Given the description of an element on the screen output the (x, y) to click on. 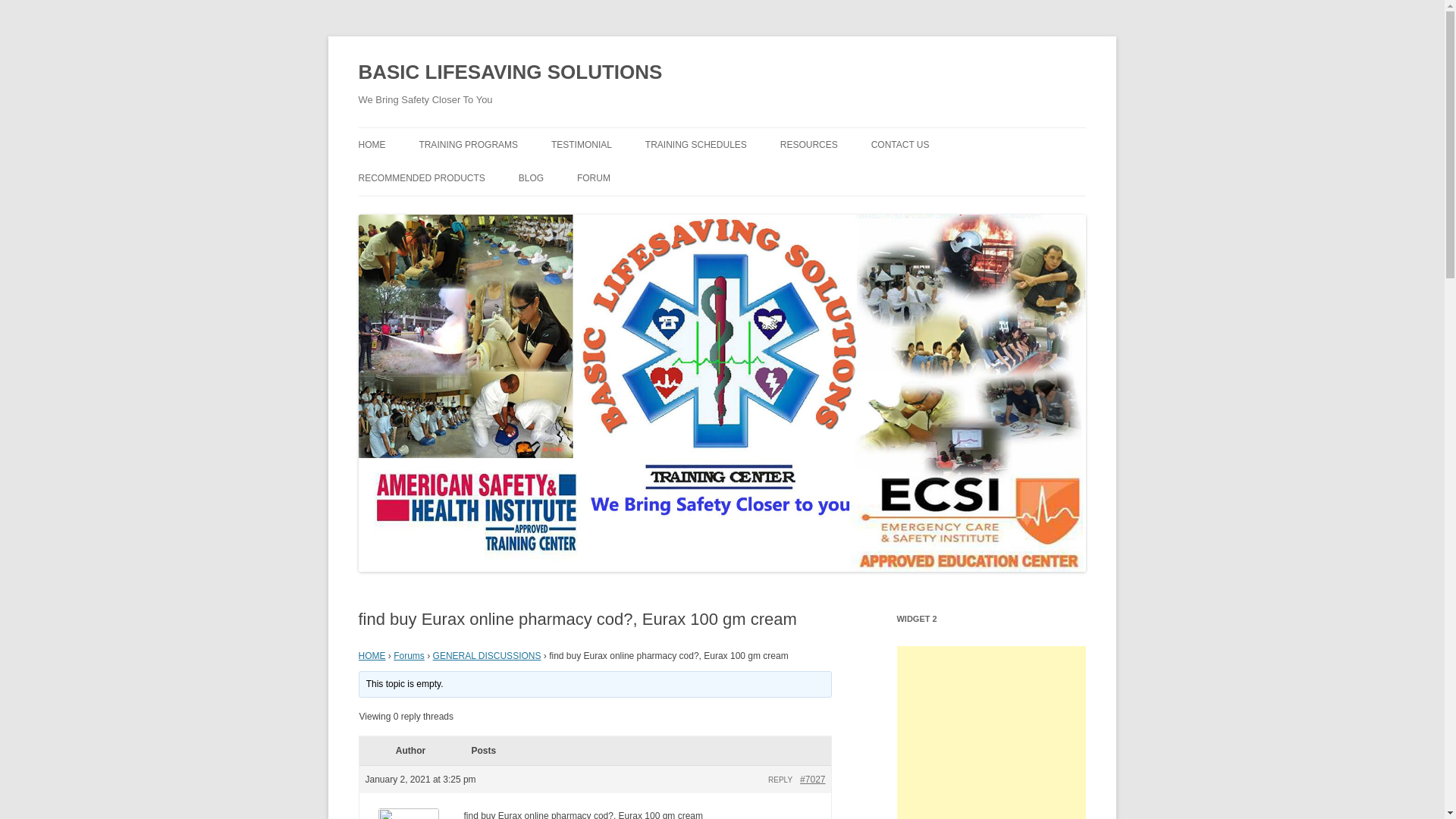
BASIC LIFESAVING SOLUTIONS (510, 72)
REPLY (780, 779)
CONTACT US (900, 144)
Forums (409, 655)
TRAINING PROGRAMS (468, 144)
TESTIMONIAL (581, 144)
FORUM (593, 177)
GENERAL DISCUSSIONS (486, 655)
RECOMMENDED PRODUCTS (421, 177)
INTRODUCE YOURSELF (652, 210)
STAR OF LIFE (593, 210)
Advertisement (991, 732)
RESOURCES (809, 144)
